Given the description of an element on the screen output the (x, y) to click on. 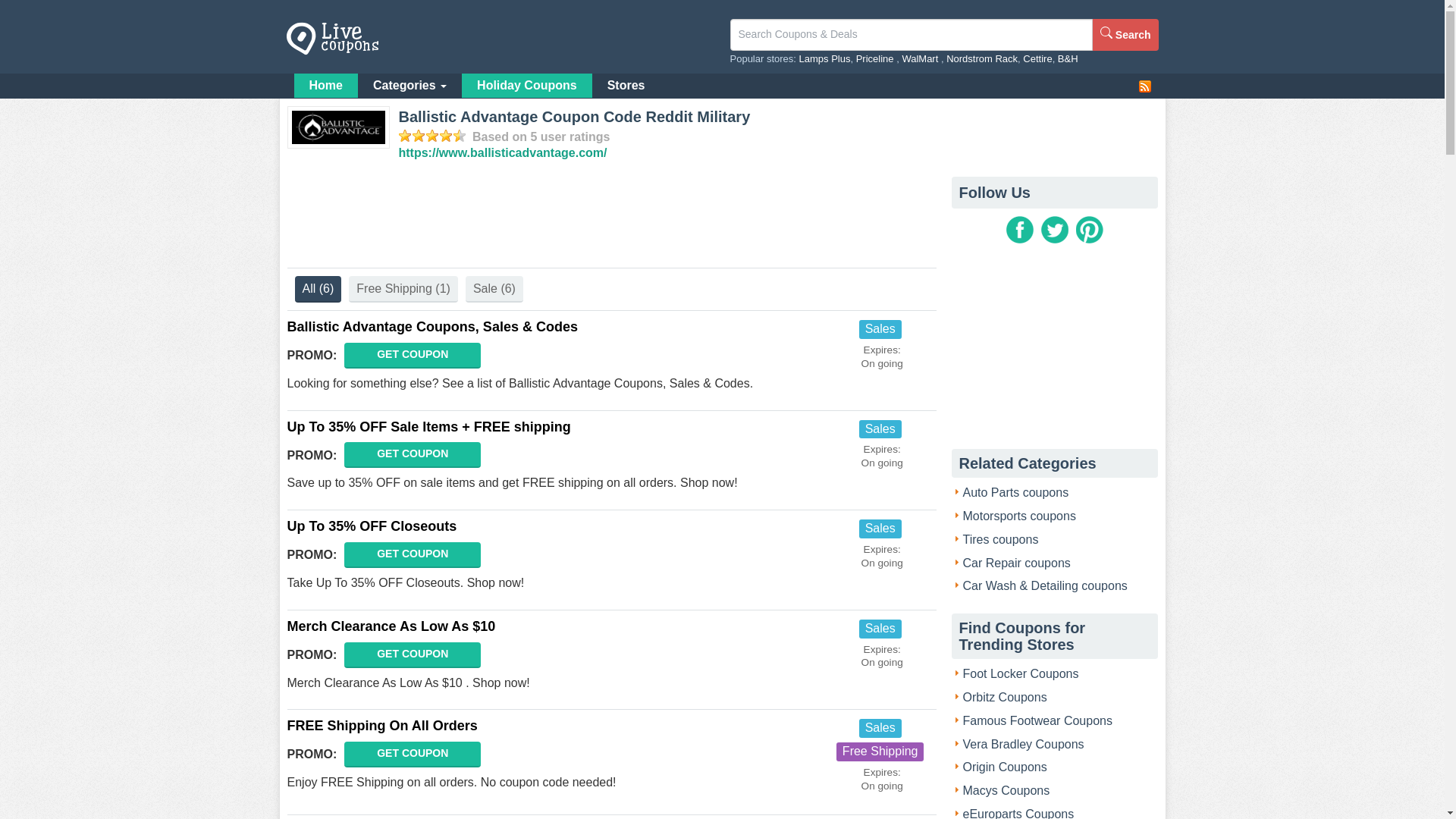
Priceline  coupons (876, 58)
GET COUPON (411, 754)
Advertisement (611, 218)
Cettire (1037, 58)
Search keyword (910, 34)
Home (326, 85)
WalMart  coupons (920, 58)
Holiday Coupons (526, 85)
Priceline (876, 58)
Stores (626, 85)
